Given the description of an element on the screen output the (x, y) to click on. 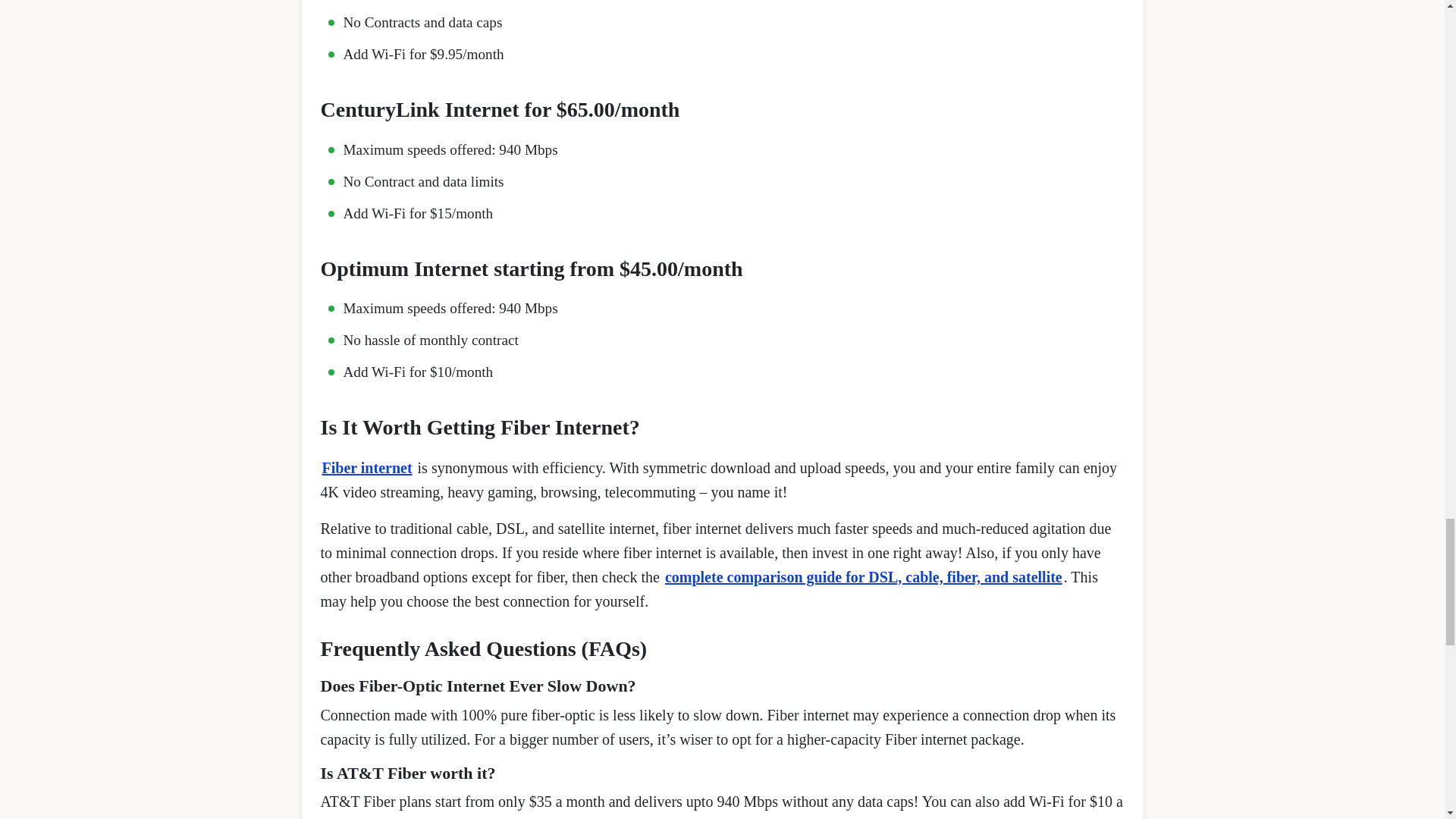
Fiber internet (366, 467)
